Given the description of an element on the screen output the (x, y) to click on. 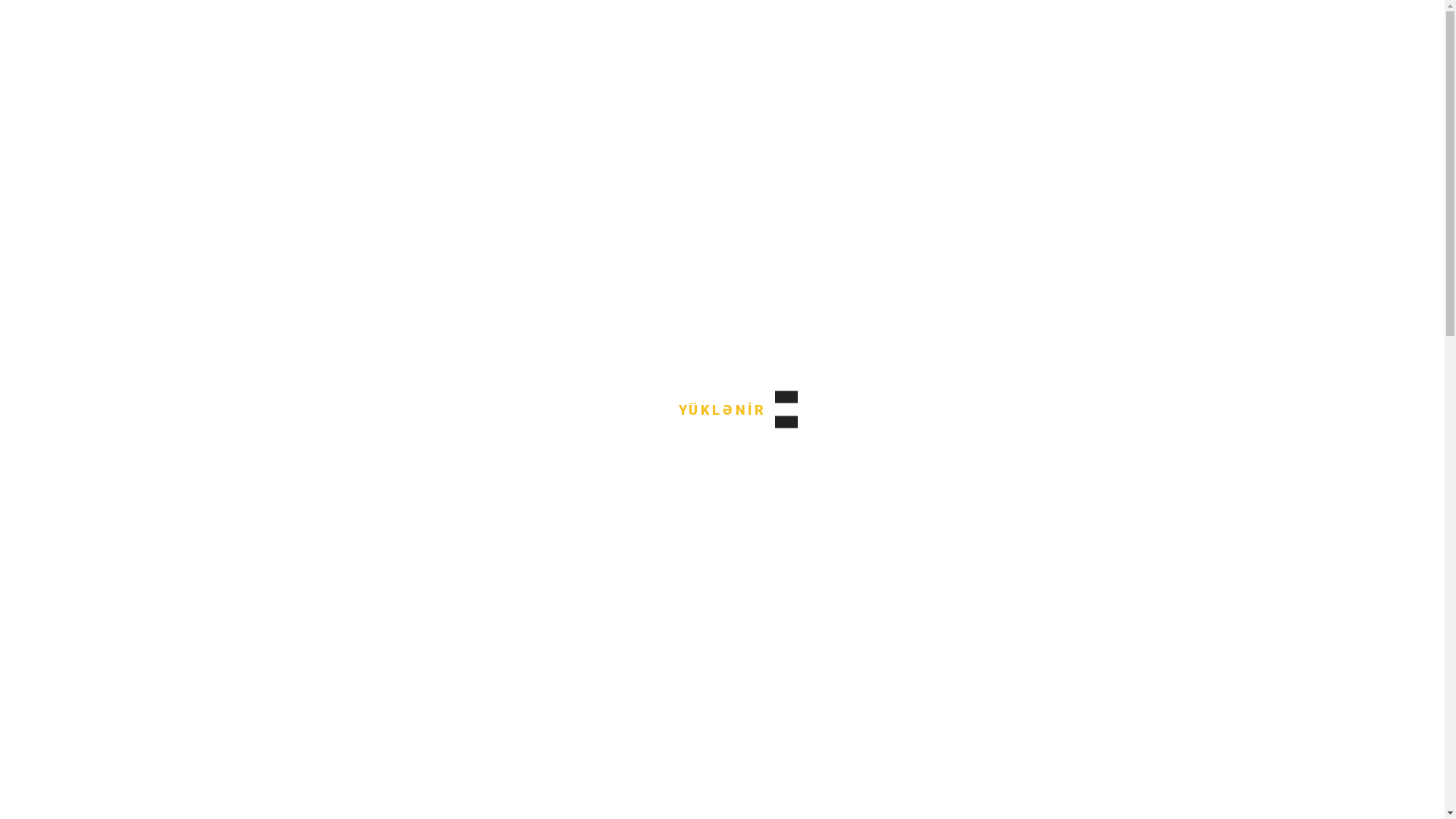
HAQQIMIZDA Element type: text (769, 90)
Bloq Element type: text (703, 283)
